Given the description of an element on the screen output the (x, y) to click on. 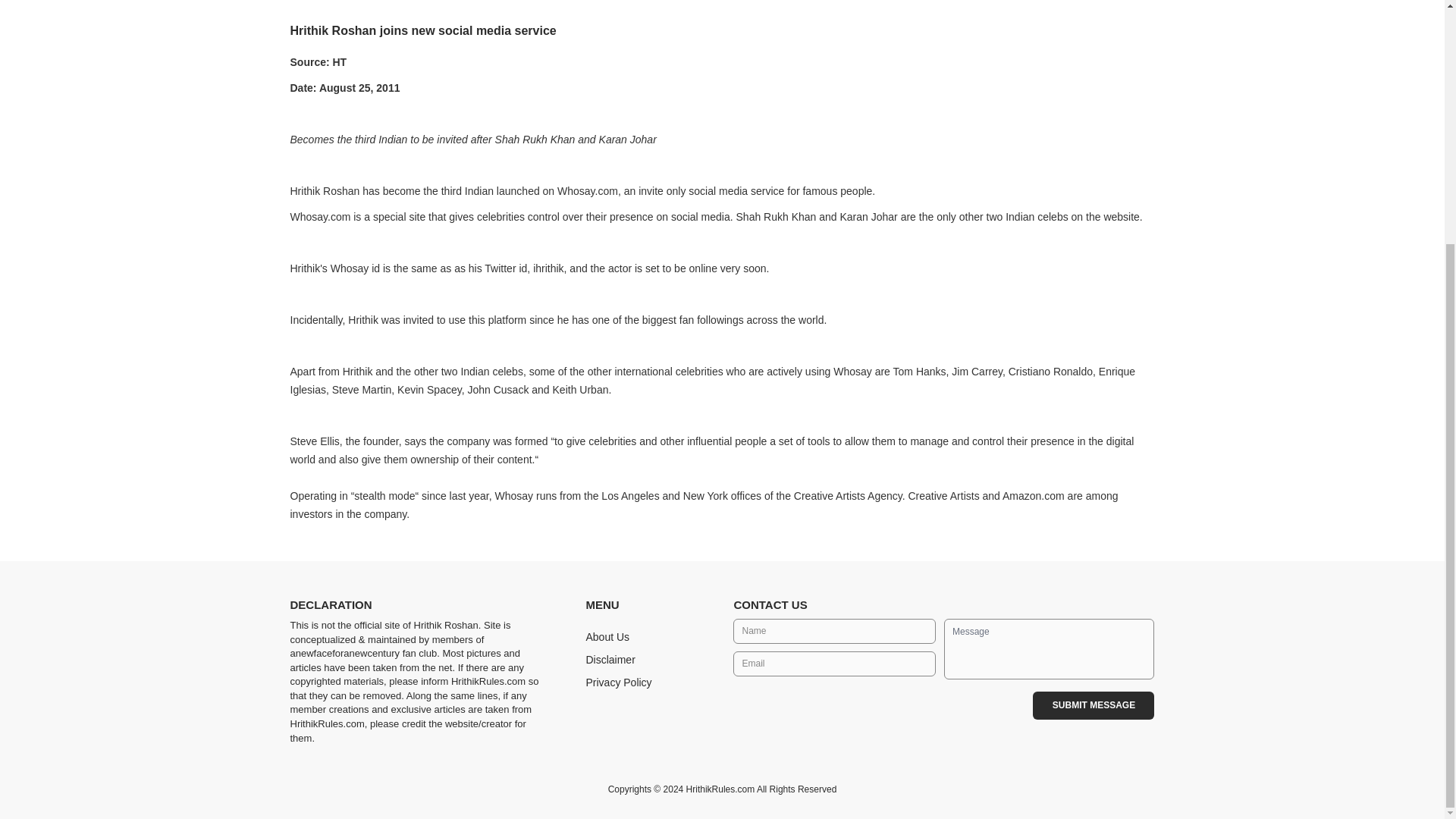
Disclaimer (609, 659)
Privacy Policy (617, 682)
About Us (606, 636)
SUBMIT MESSAGE (1093, 705)
